Given the description of an element on the screen output the (x, y) to click on. 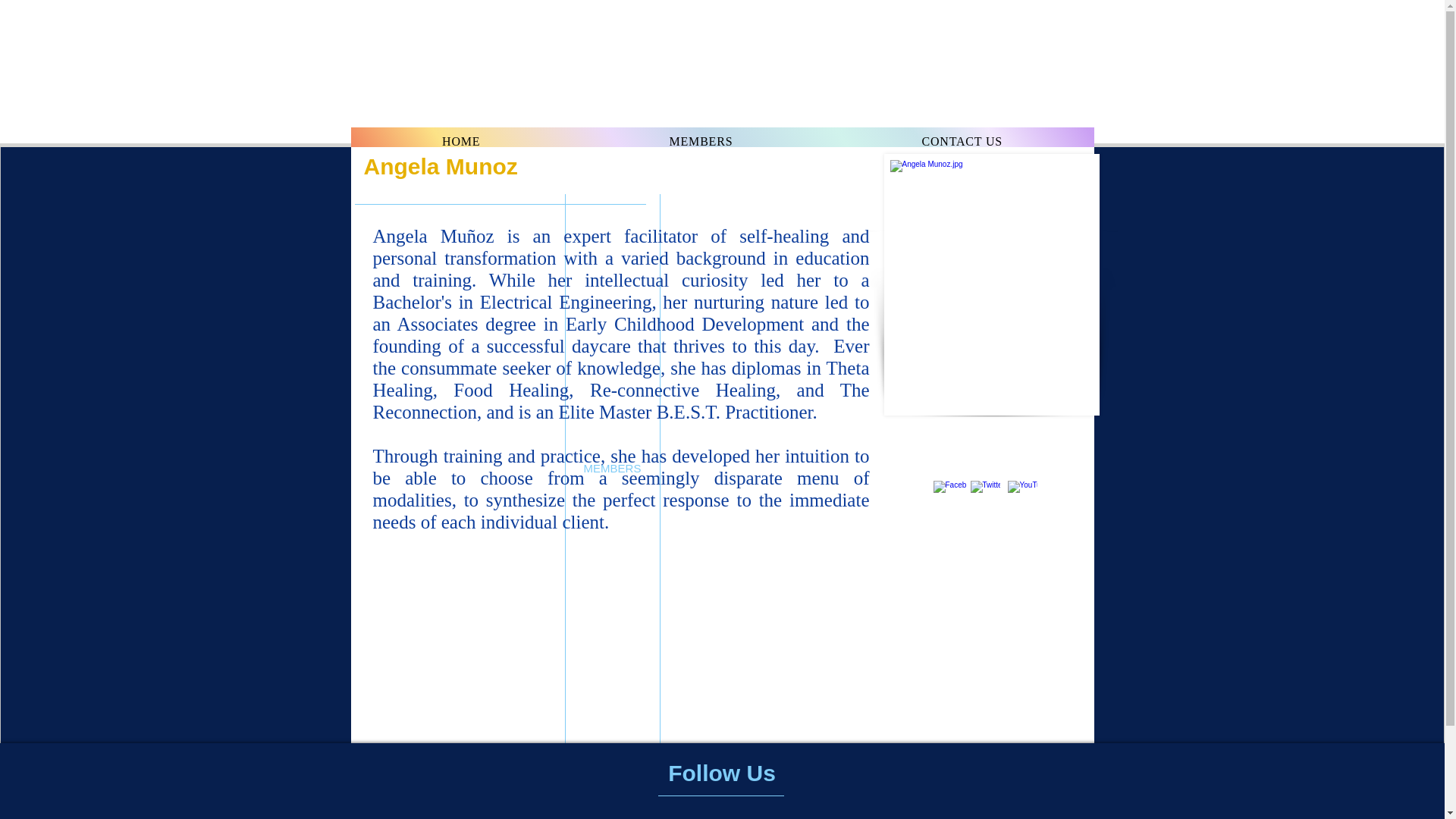
CONTACT US (961, 141)
HOME (721, 141)
MEMBERS (460, 141)
